Given the description of an element on the screen output the (x, y) to click on. 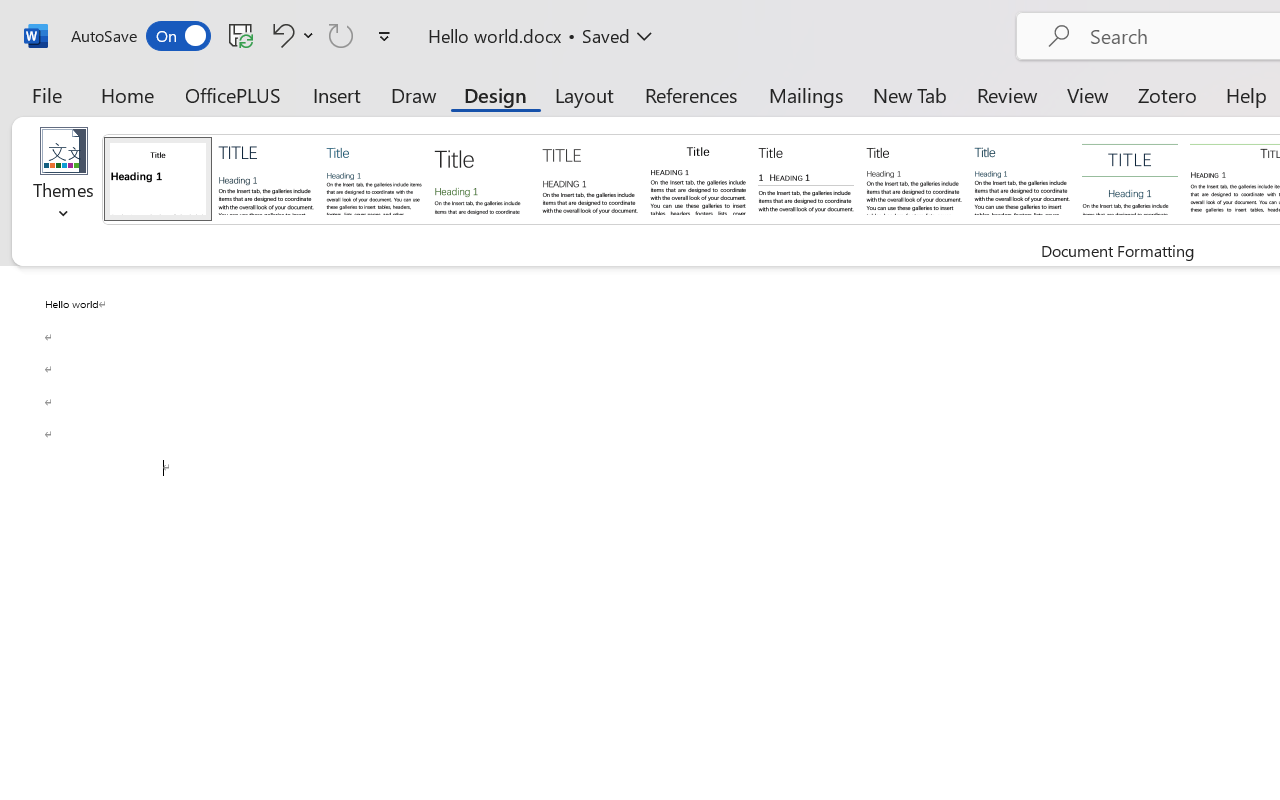
Casual (1021, 178)
Save (241, 35)
References (690, 94)
File Tab (46, 94)
Basic (Stylish) (481, 178)
New Tab (909, 94)
Themes (63, 179)
Black & White (Numbered) (806, 178)
Basic (Elegant) (266, 178)
Zotero (1166, 94)
Can't Repeat (341, 35)
Review (1007, 94)
More Options (308, 35)
Undo Click and Type Formatting (290, 35)
Customize Quick Access Toolbar (384, 35)
